Given the description of an element on the screen output the (x, y) to click on. 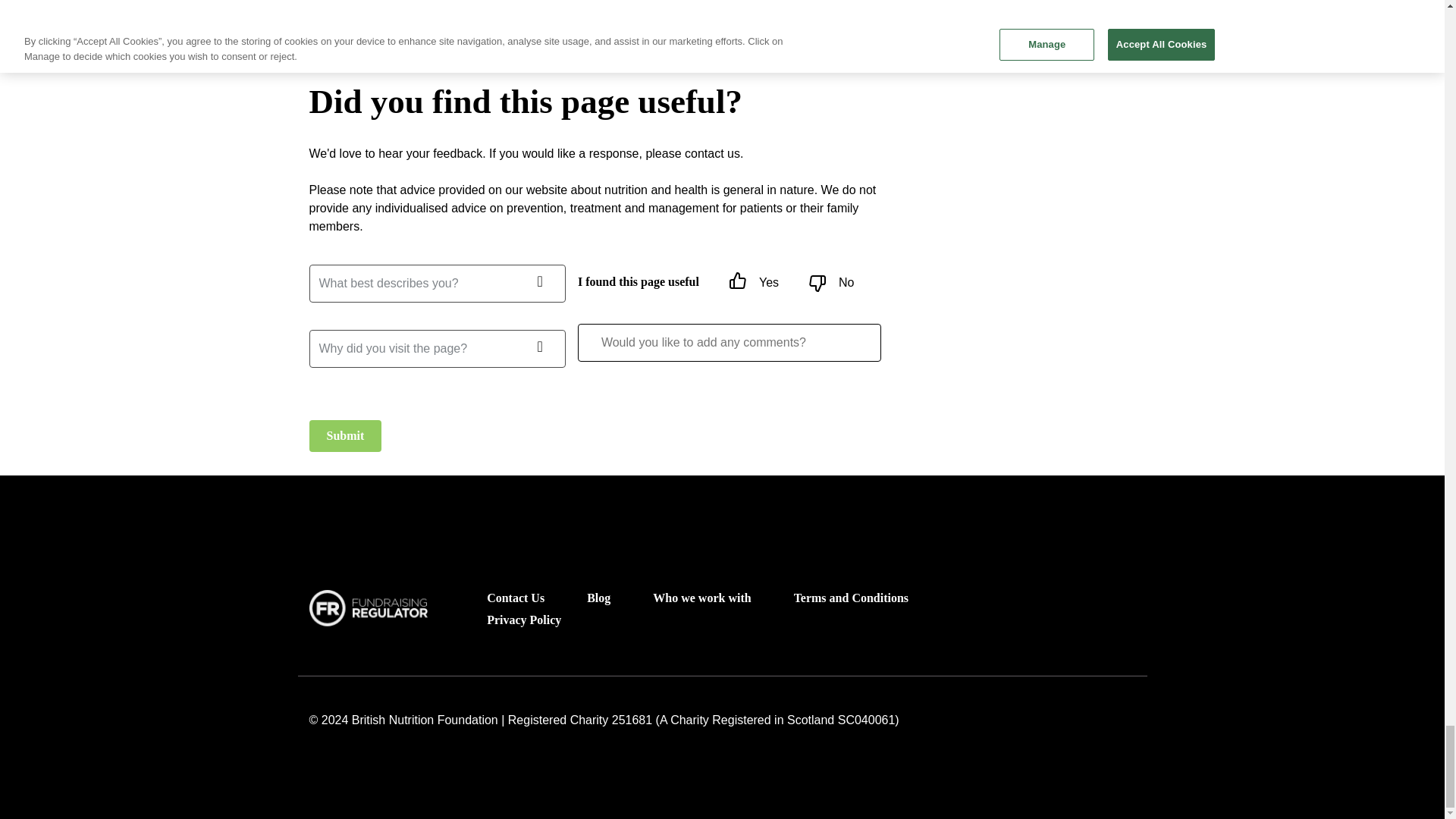
Submit (344, 436)
No (817, 283)
Yes (737, 283)
